Given the description of an element on the screen output the (x, y) to click on. 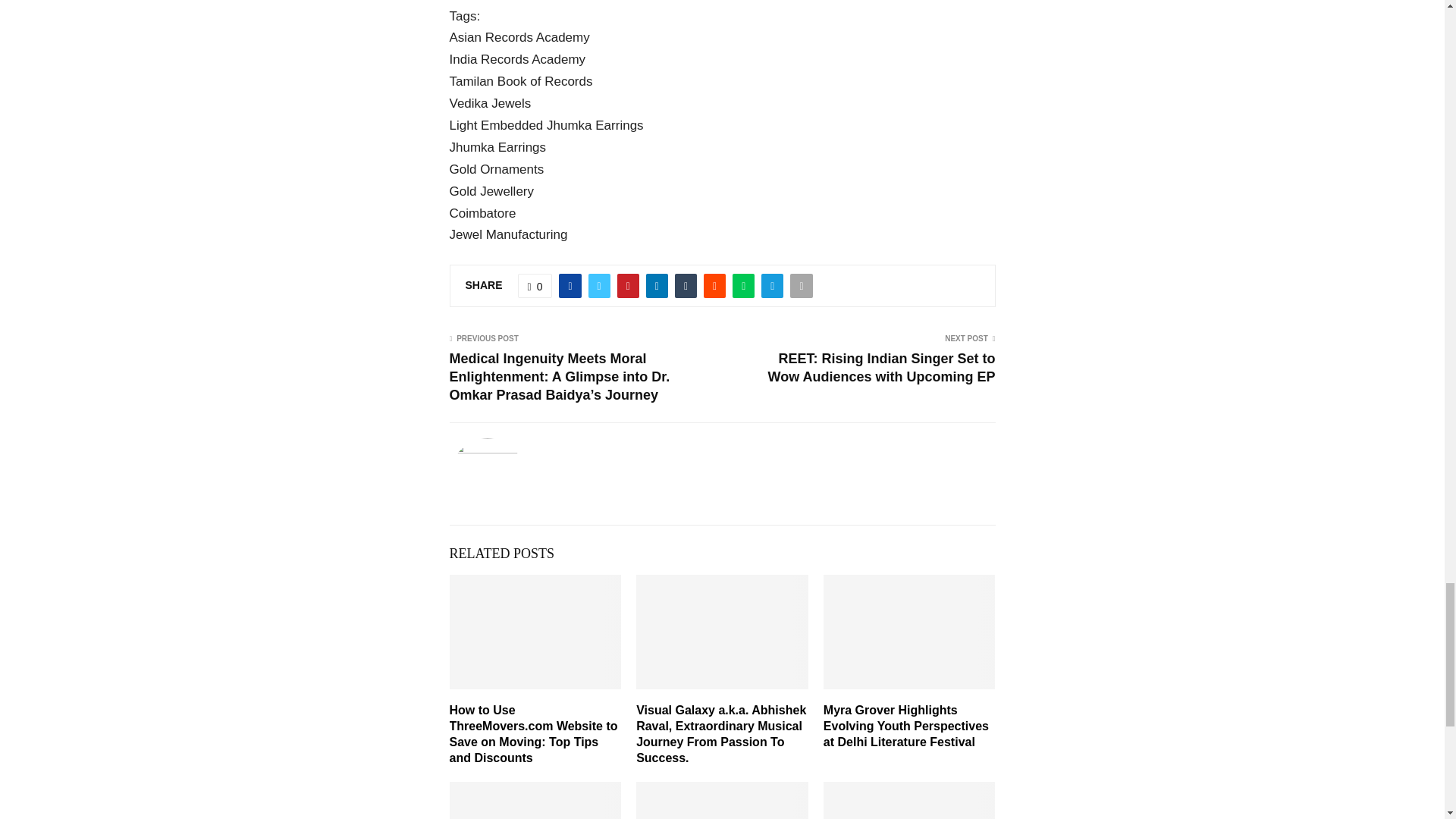
Like (535, 285)
